Given the description of an element on the screen output the (x, y) to click on. 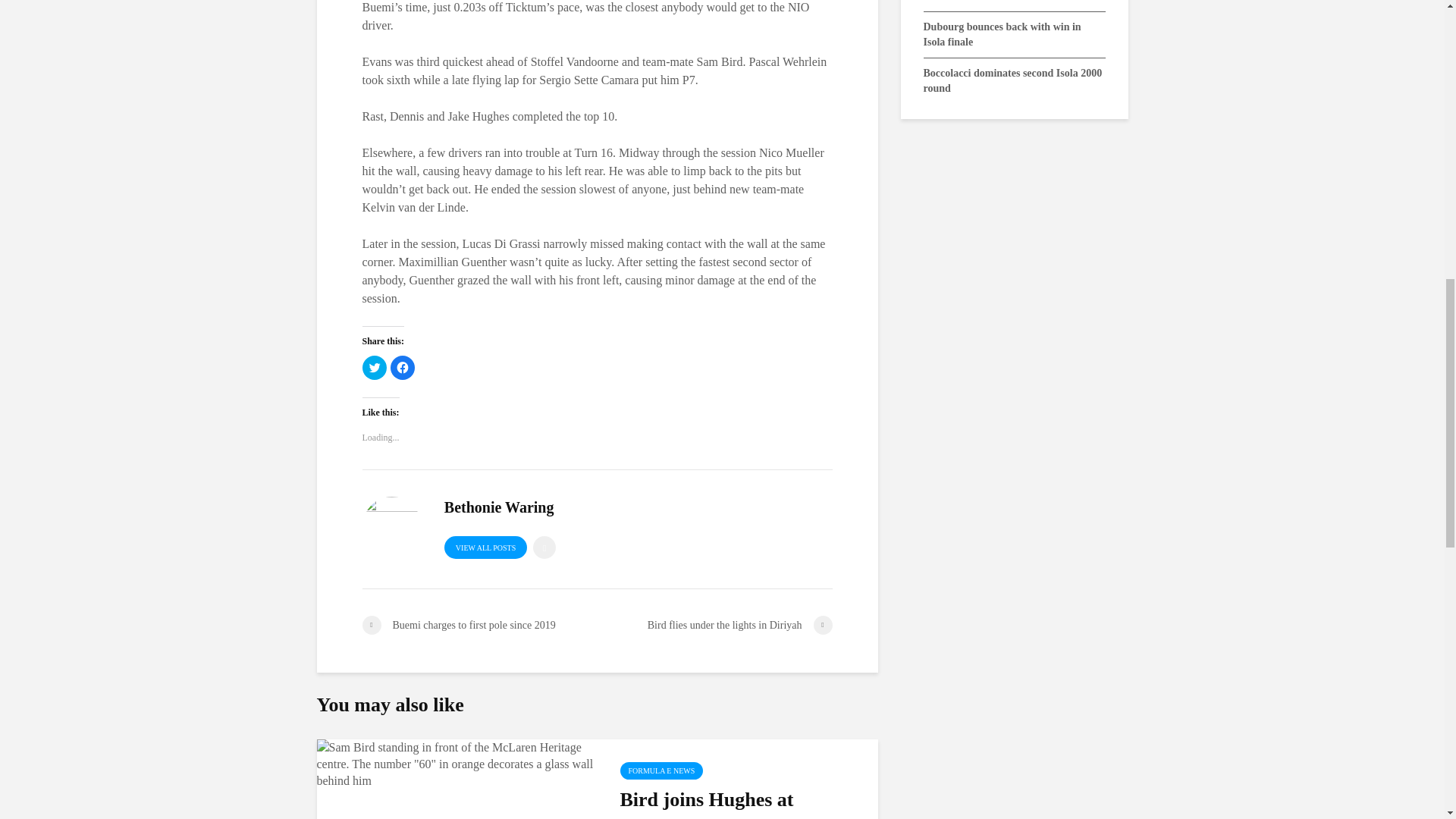
Bird flies under the lights in Diriyah (714, 624)
Click to share on Twitter (374, 367)
VIEW ALL POSTS (485, 547)
Click to share on Facebook (401, 367)
Buemi charges to first pole since 2019 (479, 624)
Bird joins Hughes at McLaren (456, 762)
